Given the description of an element on the screen output the (x, y) to click on. 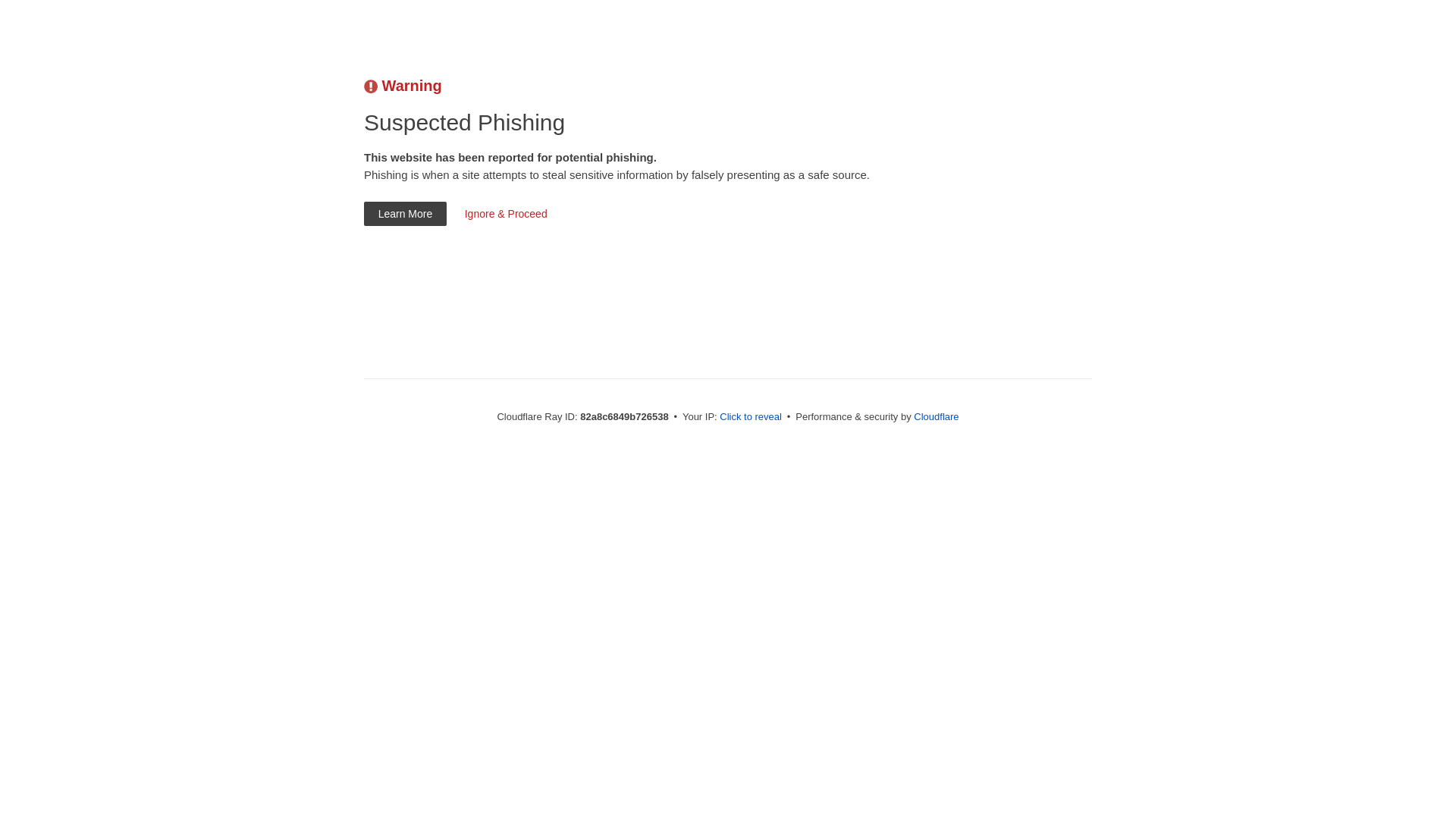
Cloudflare Element type: text (935, 416)
Ignore & Proceed Element type: text (505, 213)
Click to reveal Element type: text (750, 416)
Learn More Element type: text (405, 213)
